Given the description of an element on the screen output the (x, y) to click on. 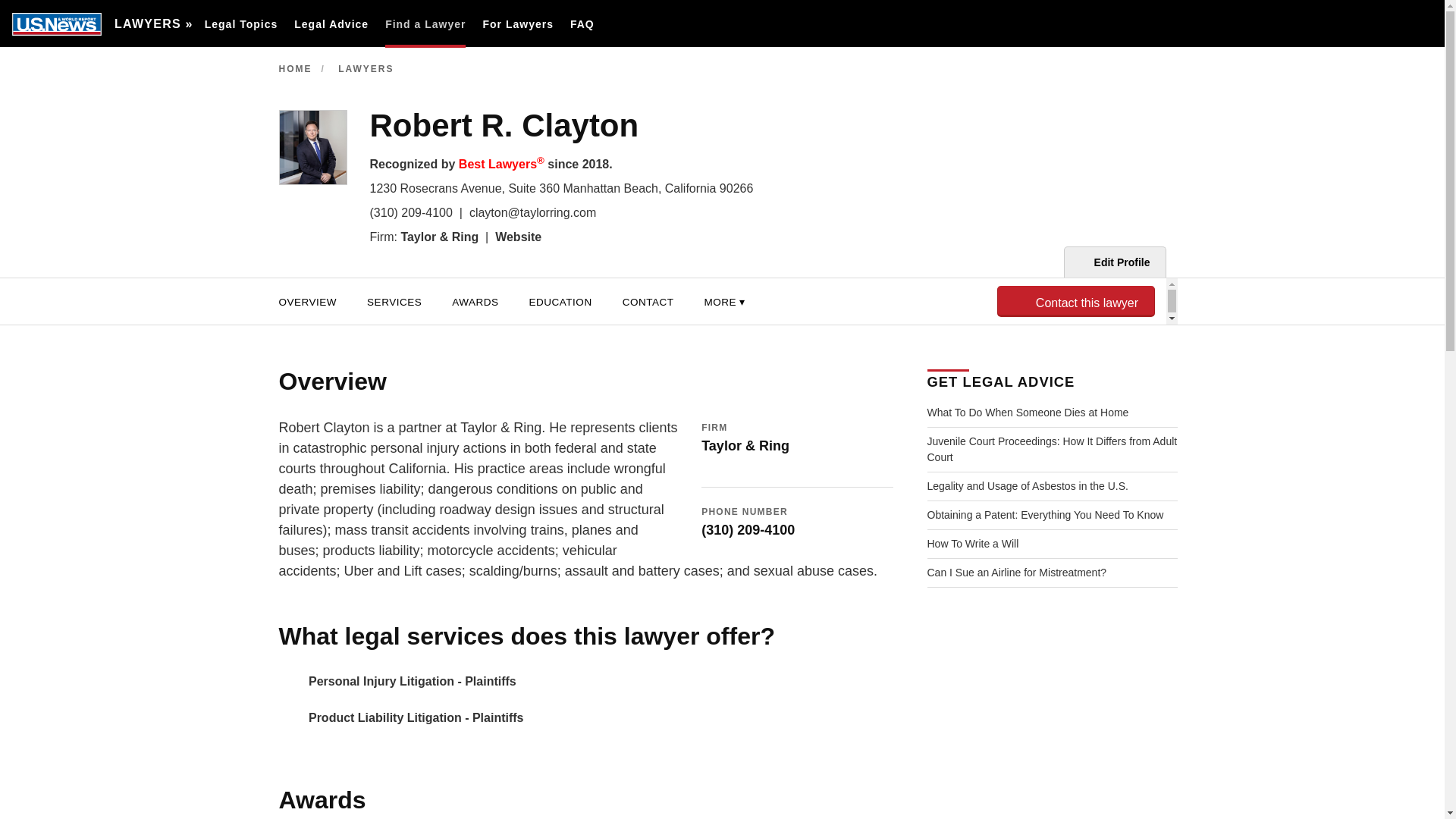
For Lawyers (517, 23)
Robert R. Clayton's Profile Image (313, 147)
Find a Lawyer (425, 23)
U.S. News (56, 24)
Legal Topics (241, 23)
Legal Advice (331, 23)
